Given the description of an element on the screen output the (x, y) to click on. 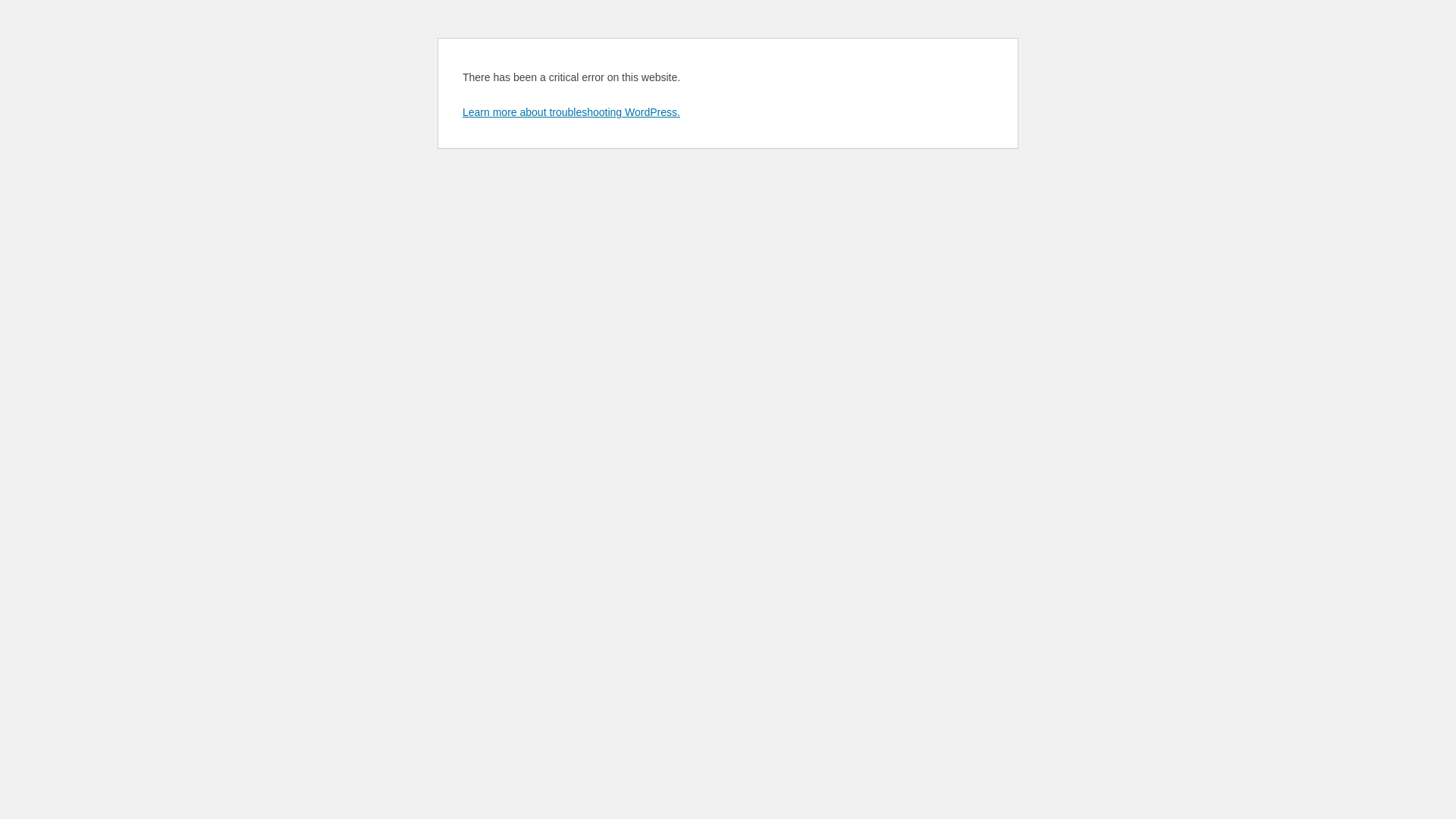
Learn more about troubleshooting WordPress. Element type: text (571, 112)
